Given the description of an element on the screen output the (x, y) to click on. 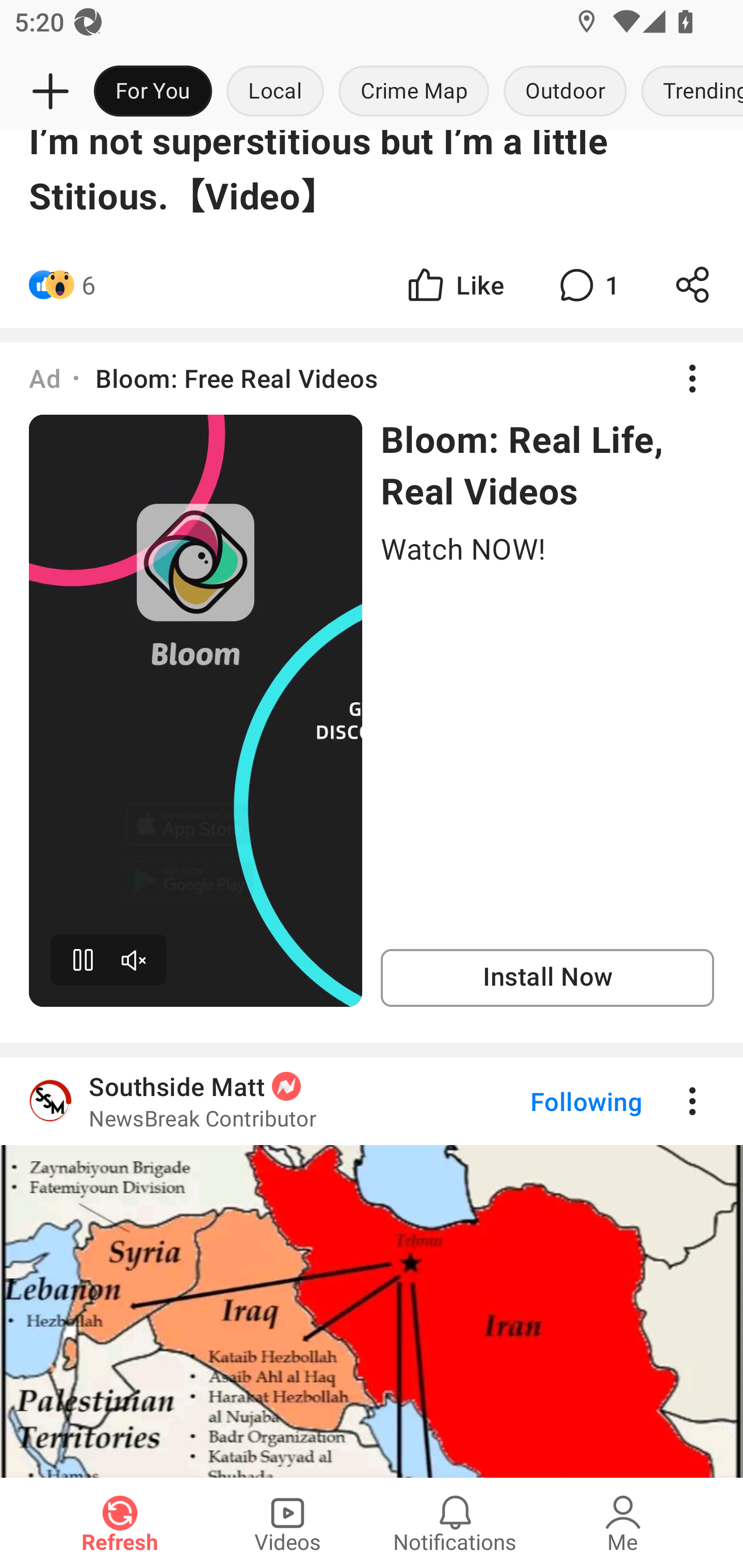
For You (152, 91)
Local (275, 91)
Crime Map (413, 91)
Outdoor (564, 91)
Trending (688, 91)
6 (88, 284)
Like (454, 284)
1 (587, 284)
Bloom: Free Real Videos (236, 377)
Bloom: Real Life, Real Videos (547, 463)
Watch NOW! (547, 547)
Install Now (547, 977)
Southside Matt NewsBreak Contributor Following (371, 1266)
Southside Matt NewsBreak Contributor Following (371, 1100)
Following (569, 1100)
Videos (287, 1522)
Notifications (455, 1522)
Me (622, 1522)
